Given the description of an element on the screen output the (x, y) to click on. 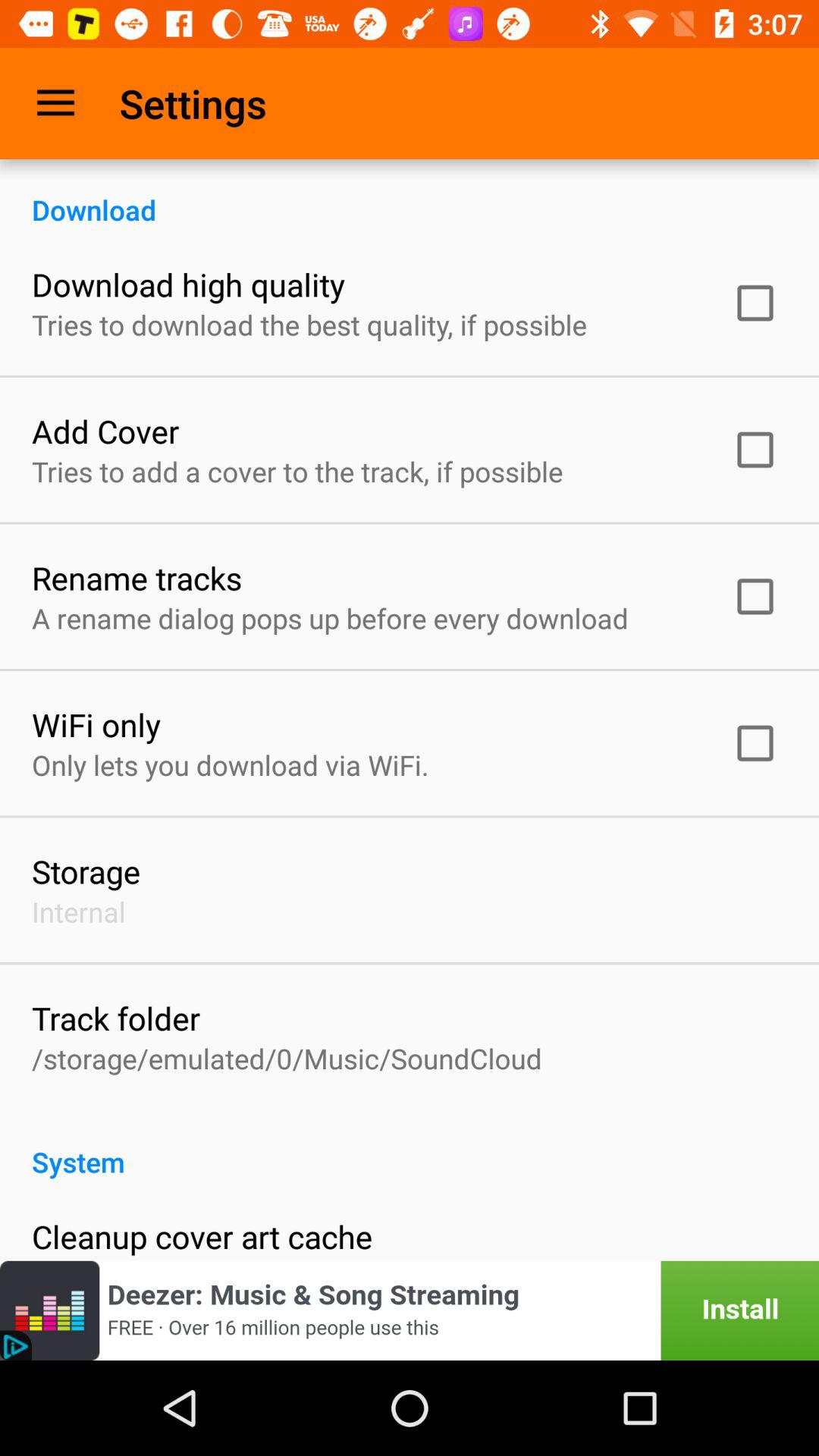
instal the app (409, 1310)
